Given the description of an element on the screen output the (x, y) to click on. 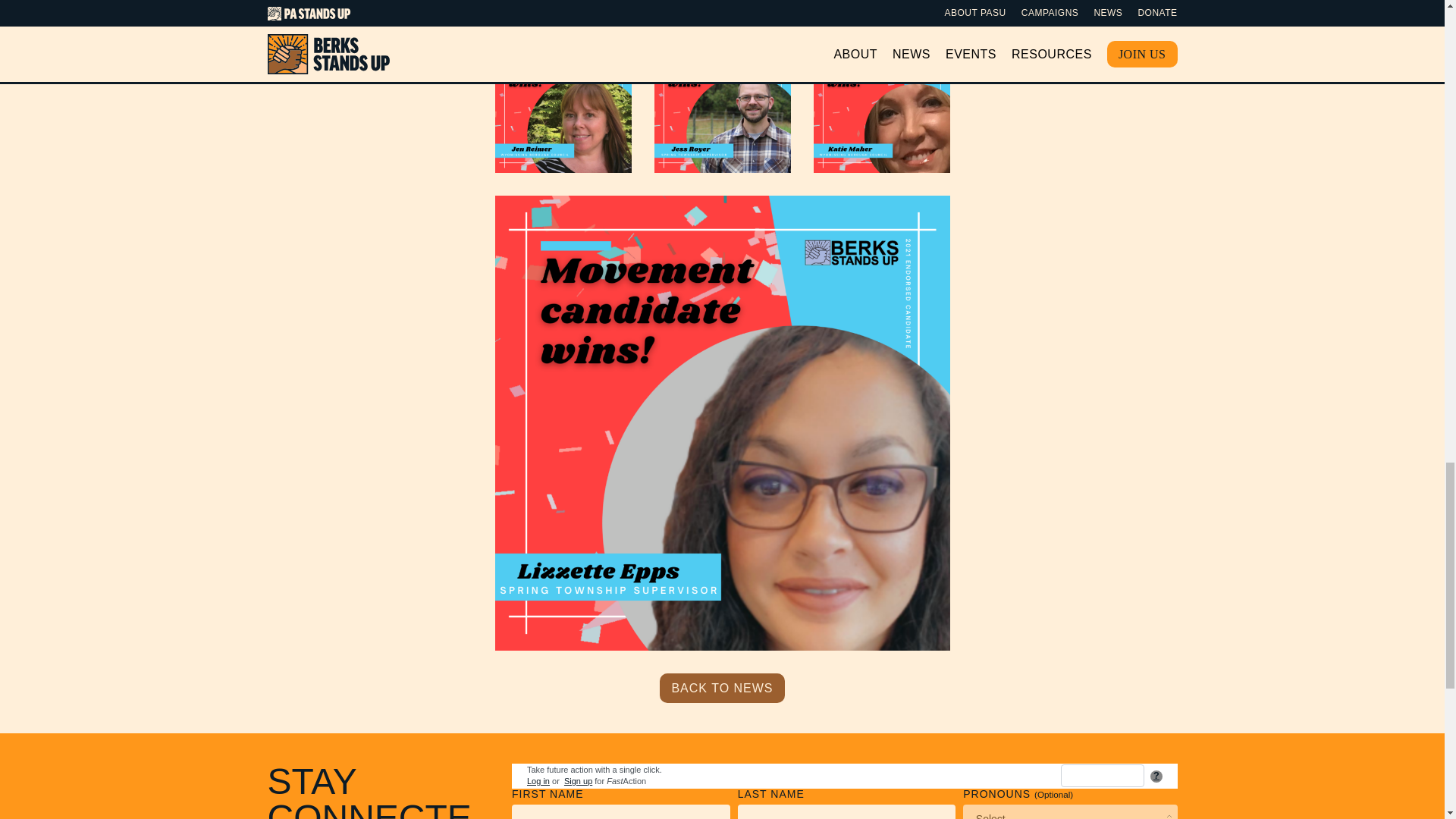
Pronouns (1069, 811)
Log in (538, 780)
BACK TO NEWS (721, 687)
Sign up (578, 780)
? (1155, 776)
